Given the description of an element on the screen output the (x, y) to click on. 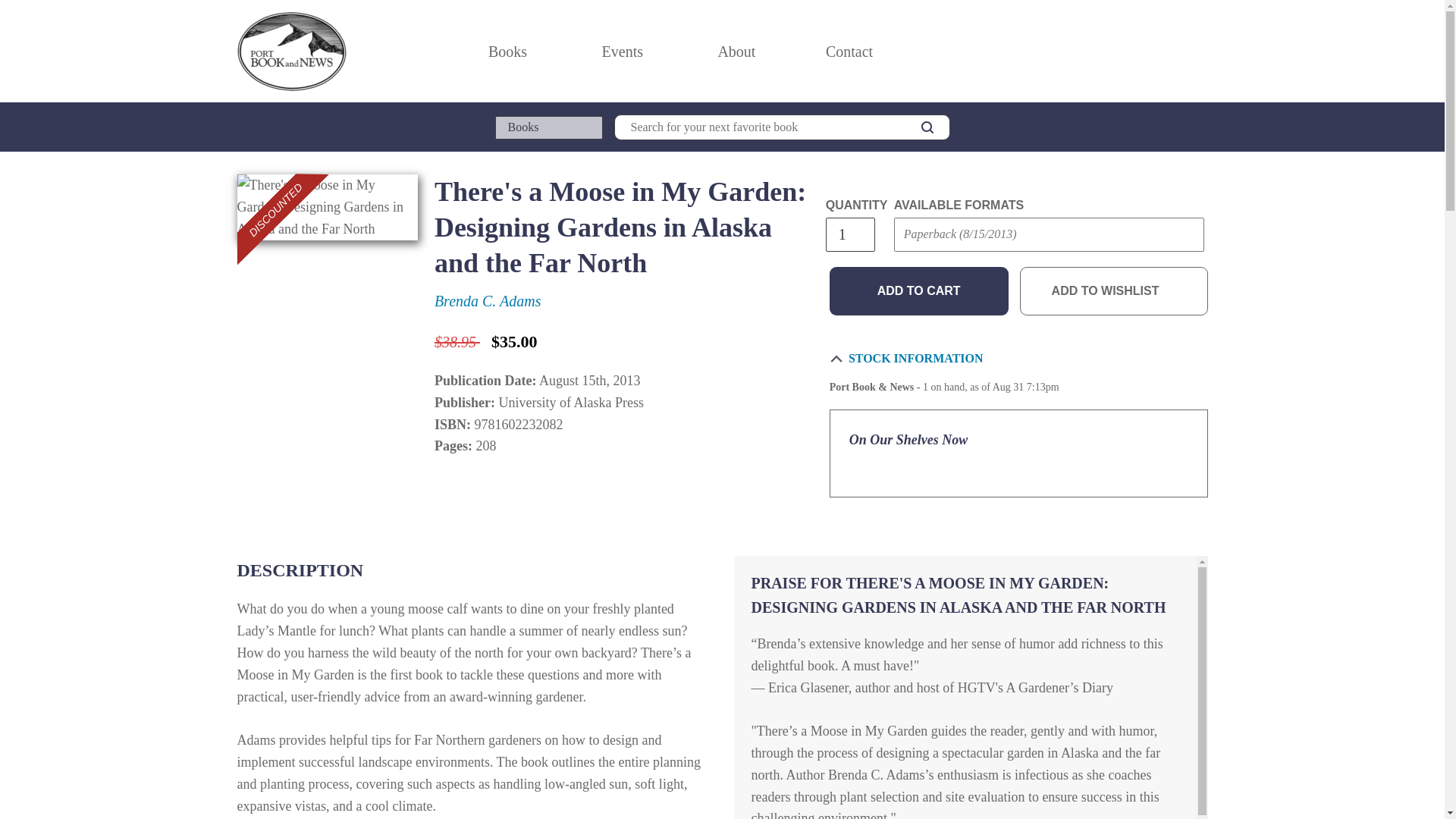
Brenda C. Adams (487, 300)
Events (622, 51)
Cart (1201, 51)
ADD TO WISHLIST (1114, 290)
Wishlists (1168, 51)
Add to cart (919, 290)
1 (850, 234)
Submit (922, 265)
Add to cart (919, 290)
Wishlist (1168, 51)
